Given the description of an element on the screen output the (x, y) to click on. 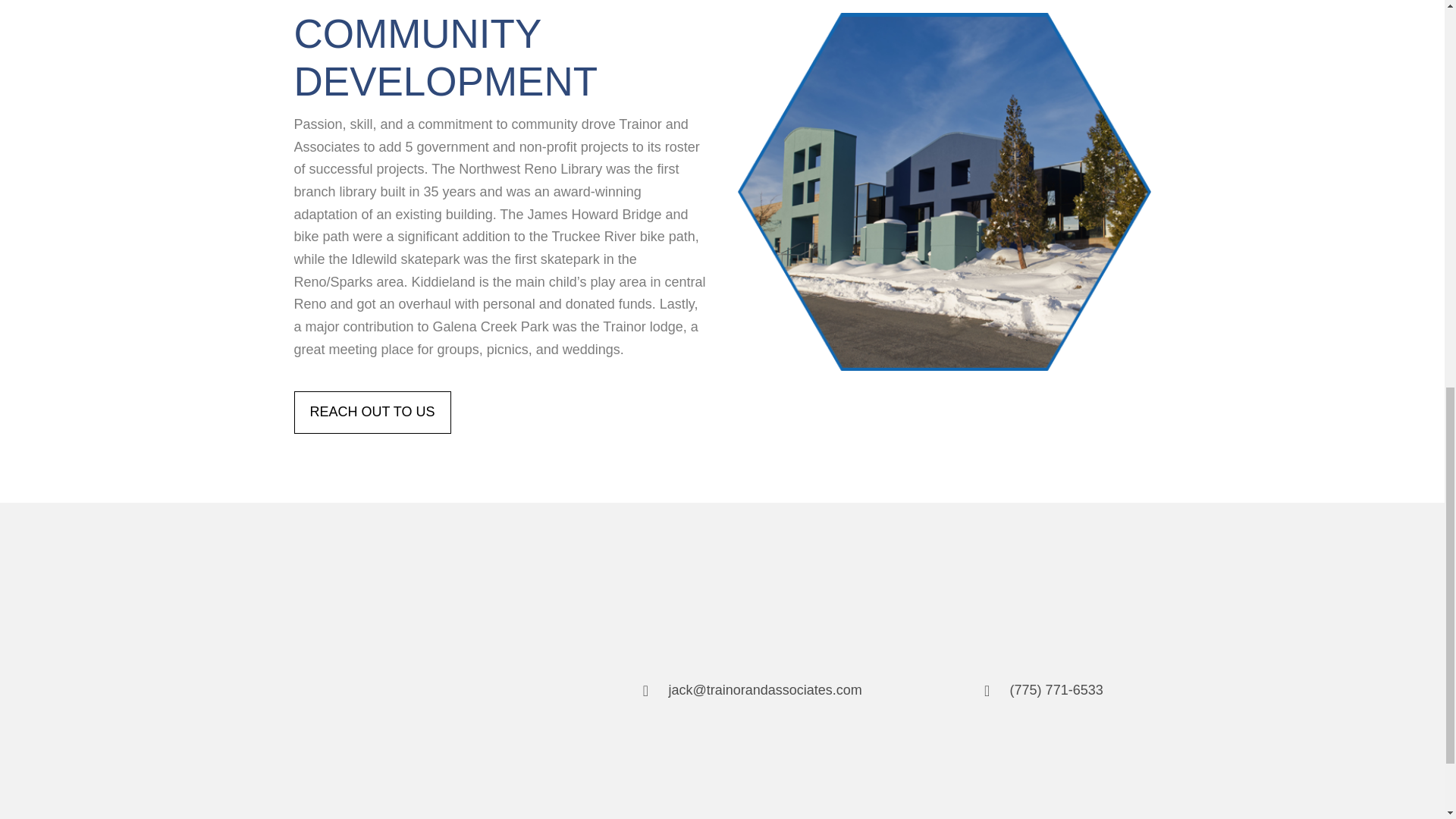
logo (413, 689)
REACH OUT TO US (372, 412)
